Given the description of an element on the screen output the (x, y) to click on. 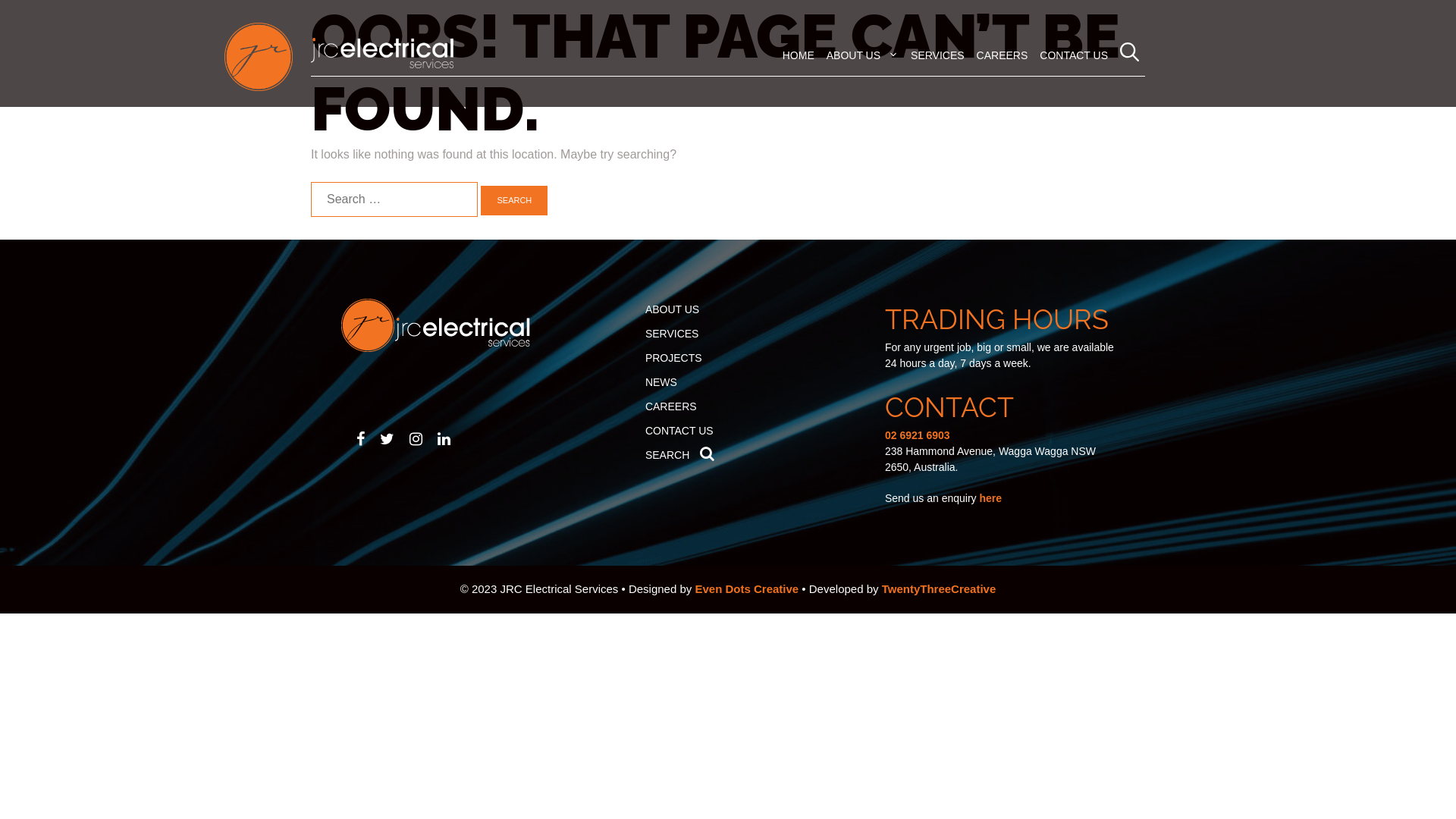
ABOUT US Element type: text (862, 54)
02 6921 6903 Element type: text (917, 435)
CONTACT US Element type: text (1073, 54)
CAREERS Element type: text (1002, 54)
ABOUT US Element type: text (672, 309)
SERVICES Element type: text (937, 54)
HOME Element type: text (798, 54)
TwentyThreeCreative Element type: text (938, 588)
Even Dots Creative Element type: text (746, 588)
SEARCH Element type: text (679, 454)
CAREERS Element type: text (670, 406)
here Element type: text (990, 498)
JRC Electrical Services Element type: hover (385, 52)
CONTACT US Element type: text (679, 430)
Search Element type: text (513, 200)
PROJECTS Element type: text (673, 357)
JRC Electrical Services Element type: hover (381, 52)
NEWS Element type: text (661, 382)
Search for: Element type: hover (393, 199)
SERVICES Element type: text (672, 333)
